Given the description of an element on the screen output the (x, y) to click on. 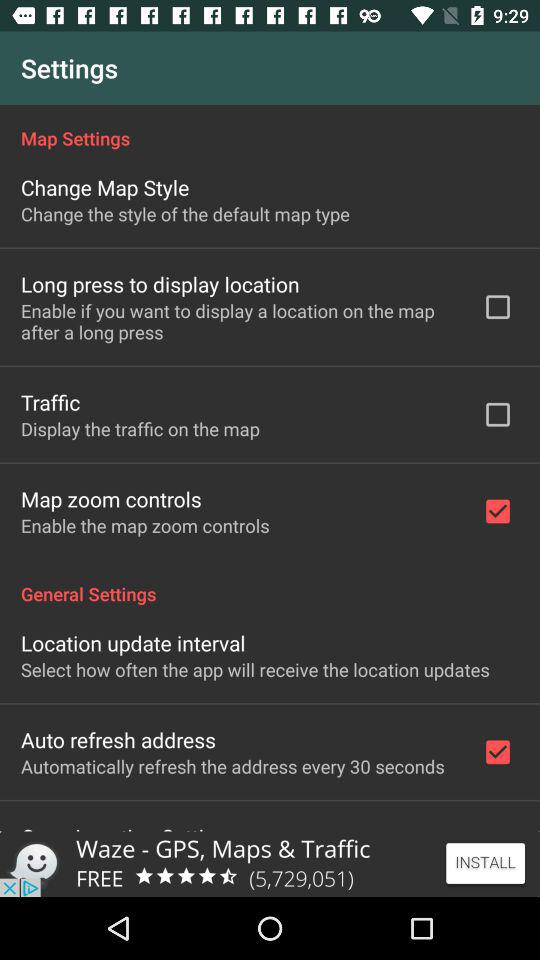
turn on the select how often app (255, 669)
